Given the description of an element on the screen output the (x, y) to click on. 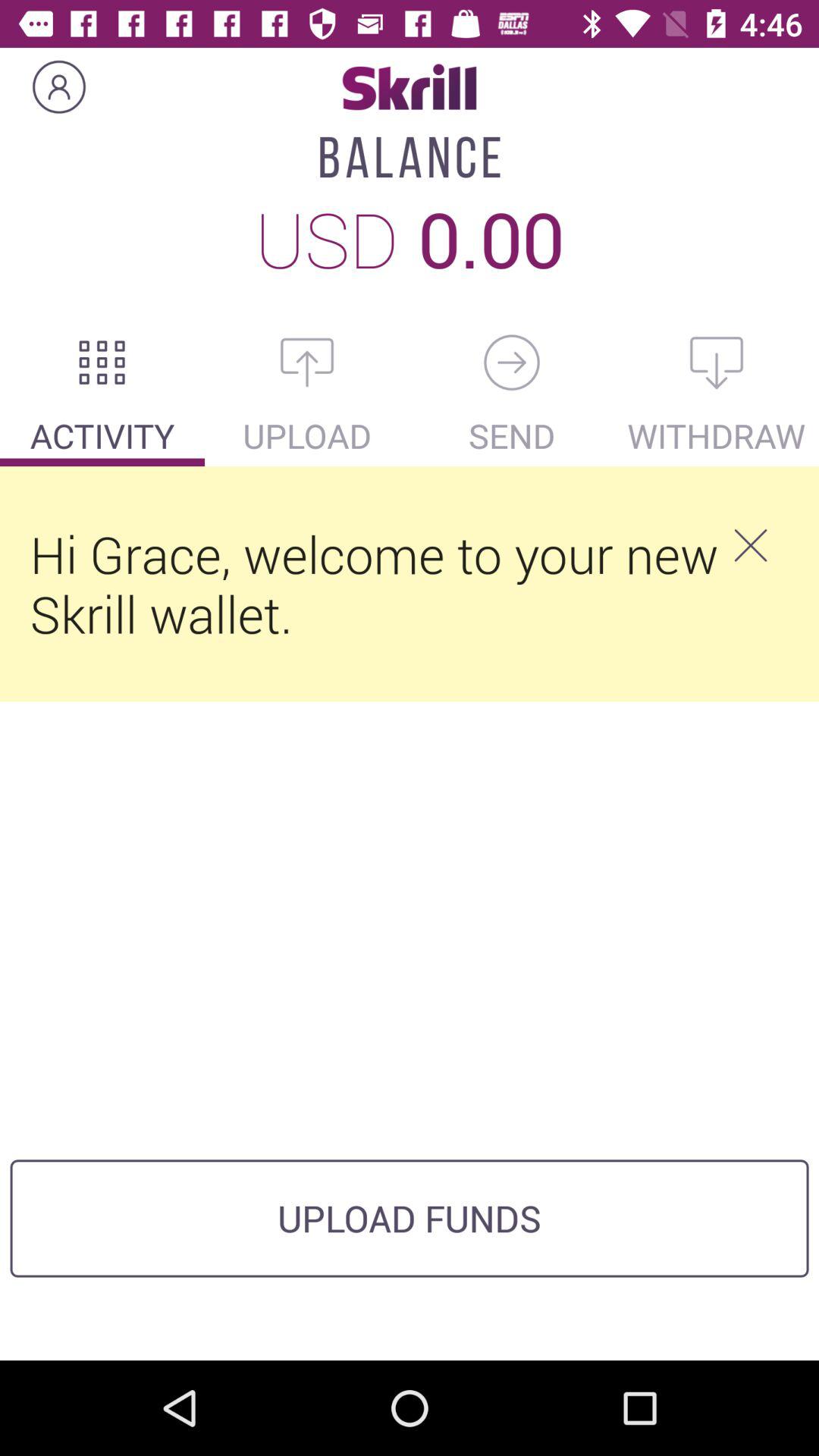
click to send money (511, 362)
